Given the description of an element on the screen output the (x, y) to click on. 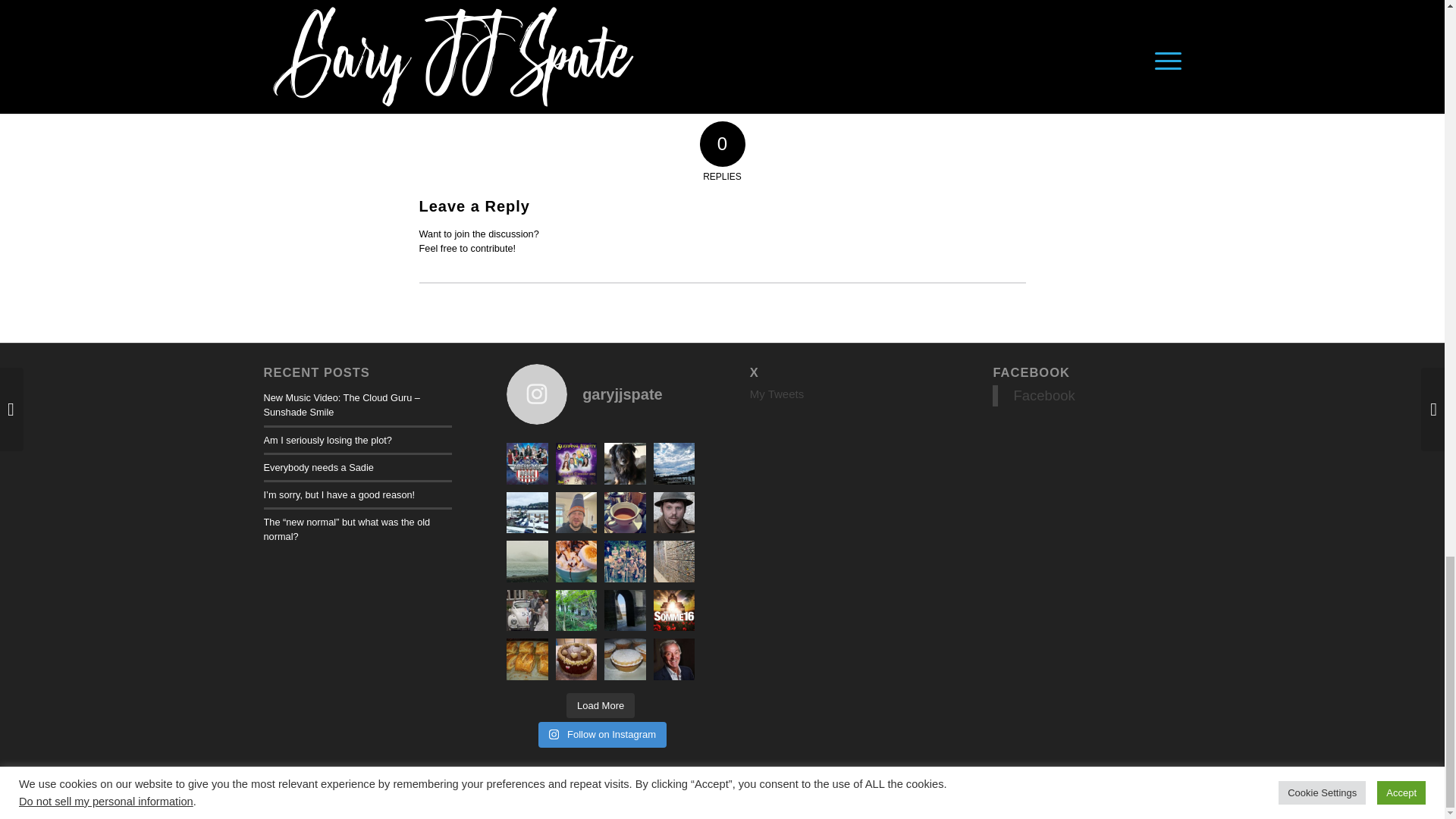
Am I seriously losing the plot? (327, 439)
Everybody needs a Sadie (318, 467)
garyjjspate (600, 394)
